Given the description of an element on the screen output the (x, y) to click on. 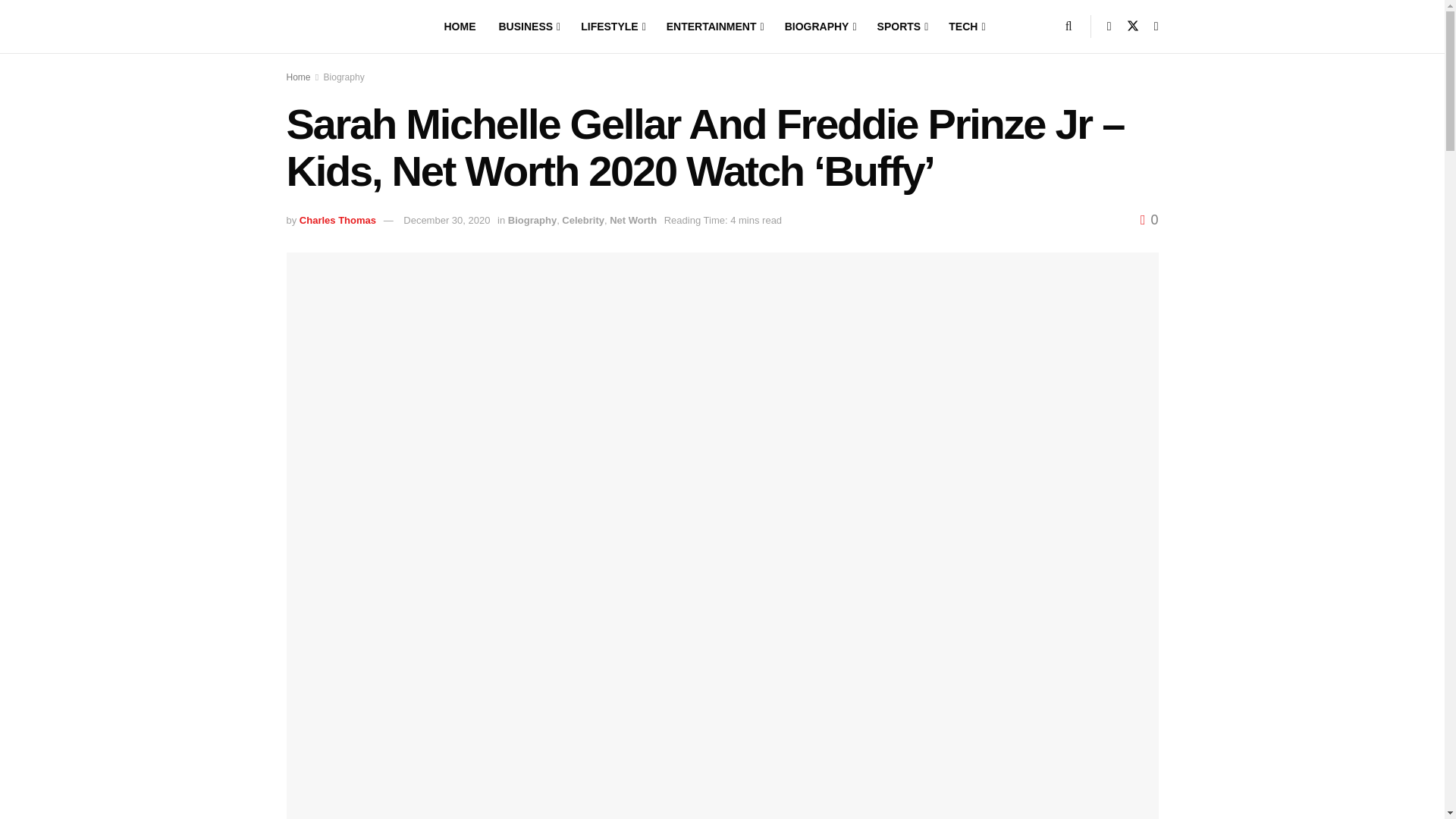
BUSINESS (529, 26)
LIFESTYLE (611, 26)
